Given the description of an element on the screen output the (x, y) to click on. 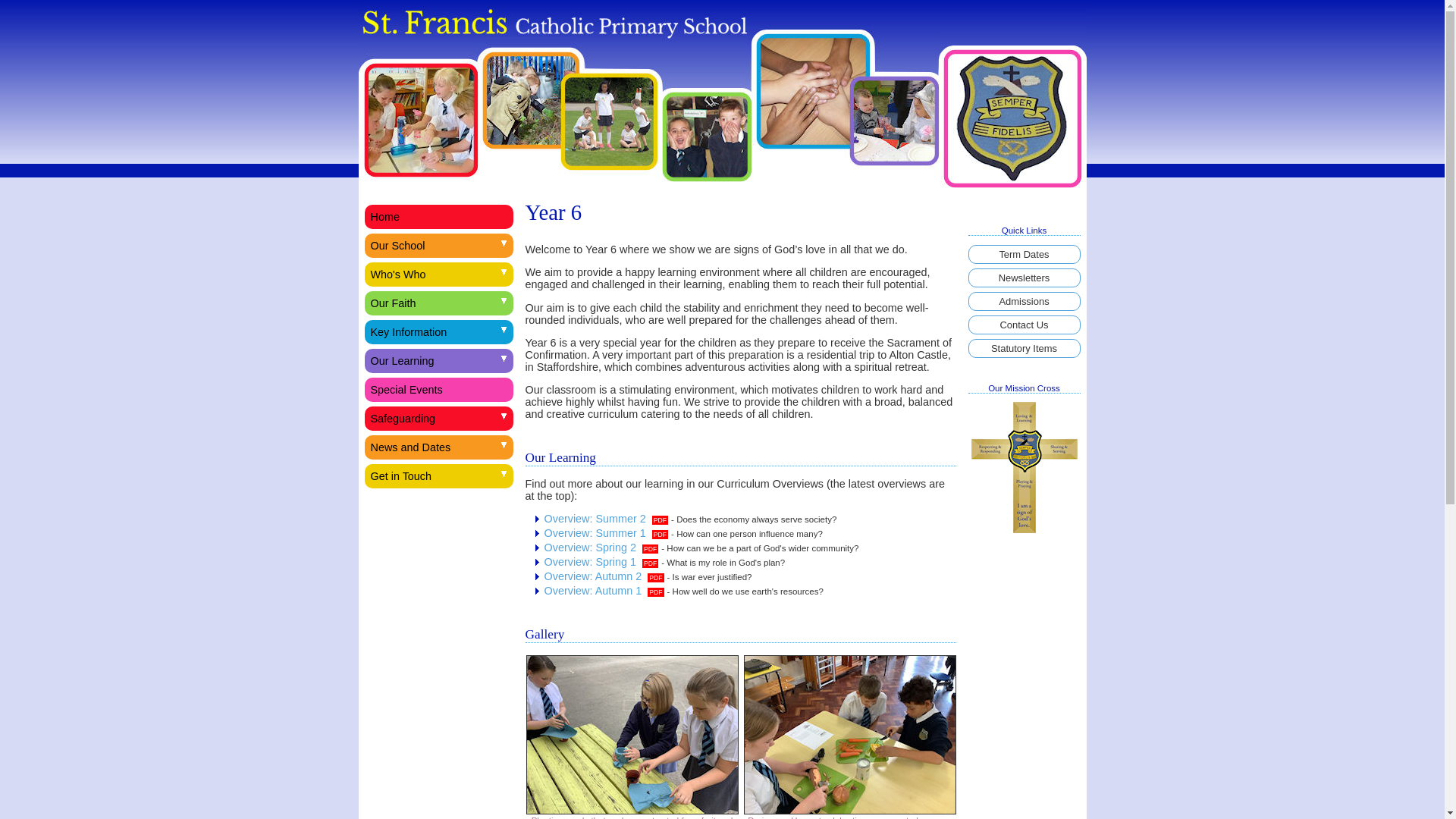
Statutory Items (1024, 348)
Overview: Spring 1 (601, 562)
Newsletters (1024, 277)
Admissions (1024, 301)
Overview: Summer 1 (606, 532)
Home (438, 216)
Key Information (438, 331)
Term Dates (1024, 253)
Who's Who (438, 274)
Overview: Summer 2 (606, 518)
Our School (438, 245)
Overview: Autumn 1 (603, 590)
Overview: Spring 2 (601, 547)
Our Faith (438, 303)
Contact Us (1024, 324)
